Given the description of an element on the screen output the (x, y) to click on. 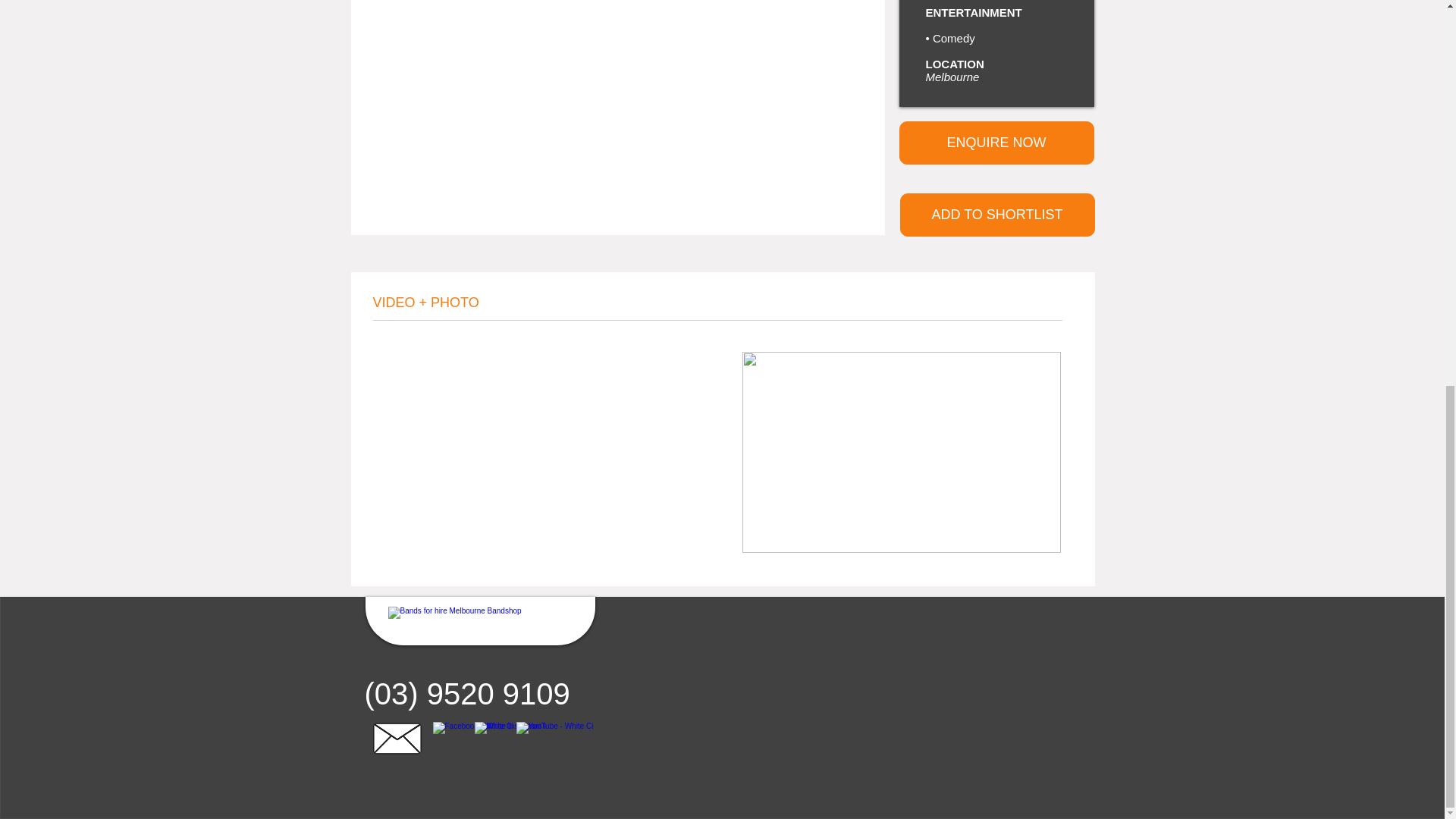
ENQUIRE NOW (996, 142)
ADD TO SHORTLIST (996, 214)
External YouTube (549, 451)
